Given the description of an element on the screen output the (x, y) to click on. 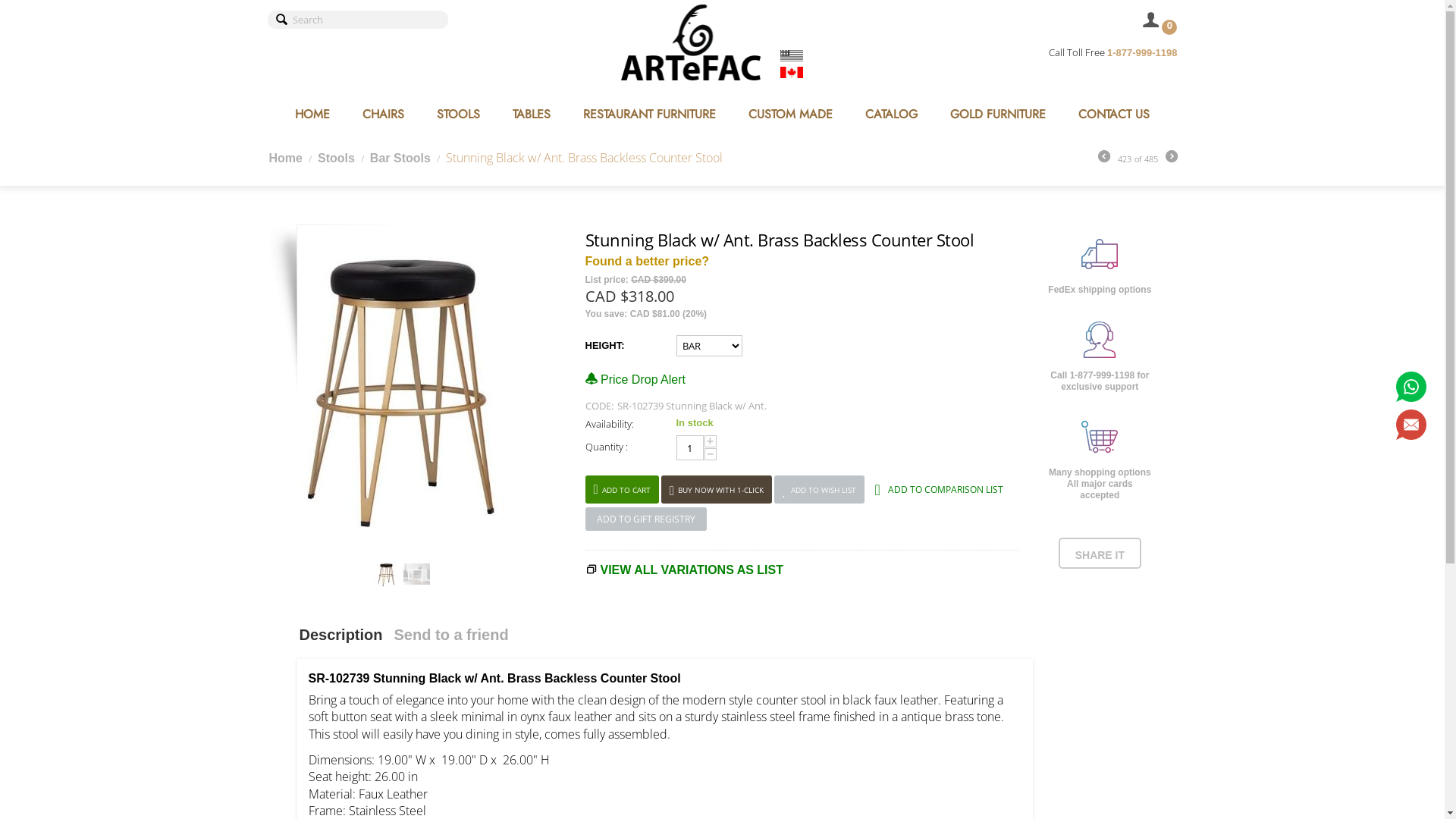
CATALOG Element type: text (891, 113)
Bar Stools Element type: text (400, 158)
Found a better price? Element type: text (647, 260)
Next Element type: hover (1170, 158)
Search Element type: hover (282, 19)
ADD TO GIFT REGISTRY Element type: text (645, 518)
GOLD FURNITURE Element type: text (997, 113)
VIEW ALL VARIATIONS AS LIST Element type: text (691, 569)
ADD TO CART Element type: text (621, 489)
Stools Element type: text (336, 158)
  Element type: text (1151, 22)
CUSTOM MADE Element type: text (790, 113)
Price Drop Alert Element type: text (635, 379)
Send to a friend Element type: text (455, 642)
CONTACT US Element type: text (1113, 113)
ADD TO WISH LIST Element type: text (819, 489)
Search Element type: hover (356, 19)
TABLES Element type: text (531, 113)
SHARE IT Element type: text (1099, 555)
Home Element type: text (284, 158)
STOOLS Element type: text (458, 113)
Description Element type: text (343, 642)
ADD TO COMPARISON LIST Element type: text (939, 487)
BUY NOW WITH 1-CLICK Element type: text (716, 489)
HOME Element type: text (312, 113)
+ Element type: text (709, 441)
CHAIRS Element type: text (383, 113)
Prev Element type: hover (1104, 158)
RESTAURANT FURNITURE Element type: text (649, 113)
